Given the description of an element on the screen output the (x, y) to click on. 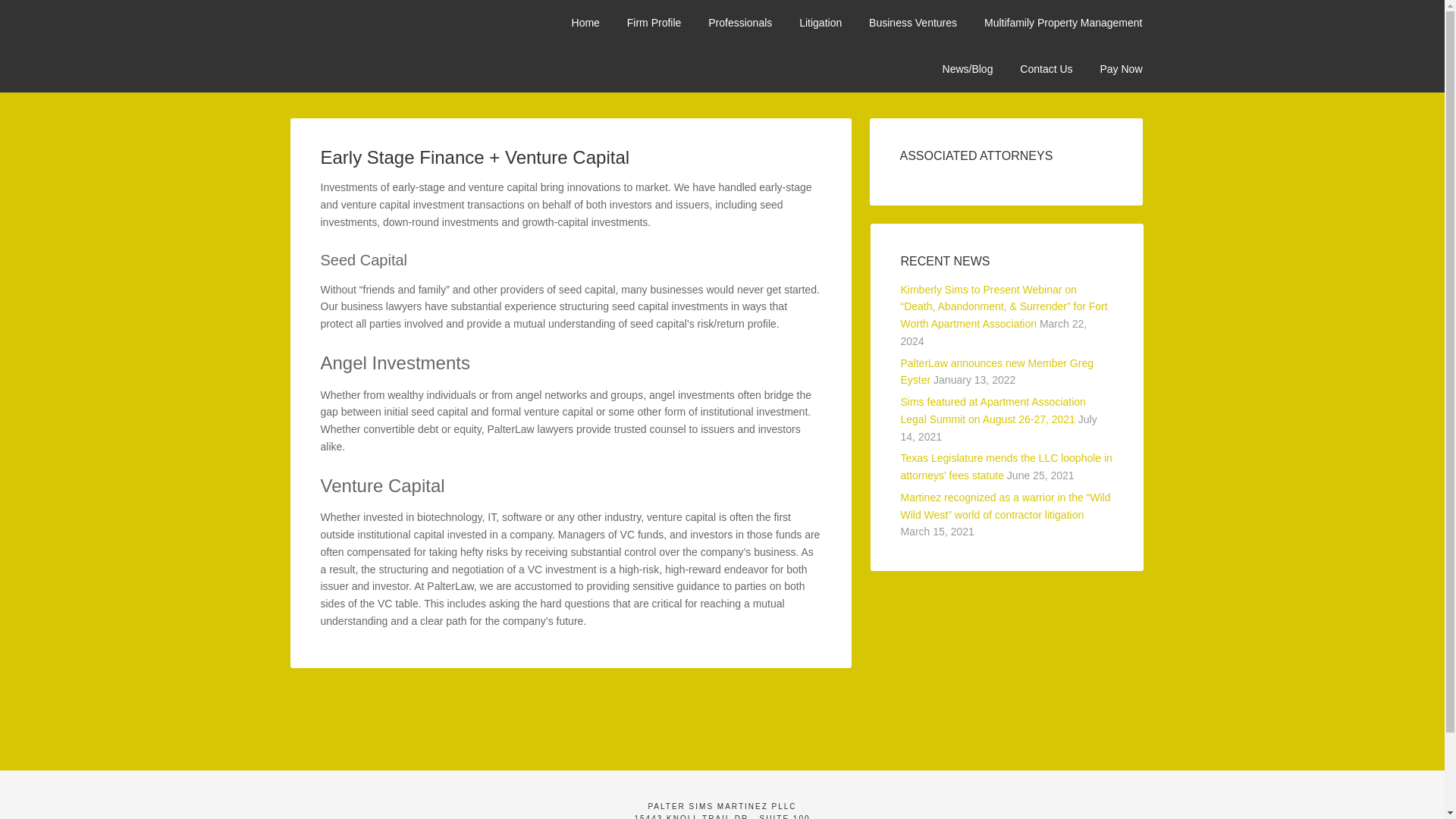
Multifamily Property Management (1063, 22)
Pay Now (1120, 68)
PalterLaw announces new Member Greg Eyster (997, 371)
Business Ventures (913, 22)
Home (585, 22)
Litigation (820, 22)
PALTER SIMS MARTINEZ PLLC (402, 38)
Contact Us (1045, 68)
Firm Profile (654, 22)
